Given the description of an element on the screen output the (x, y) to click on. 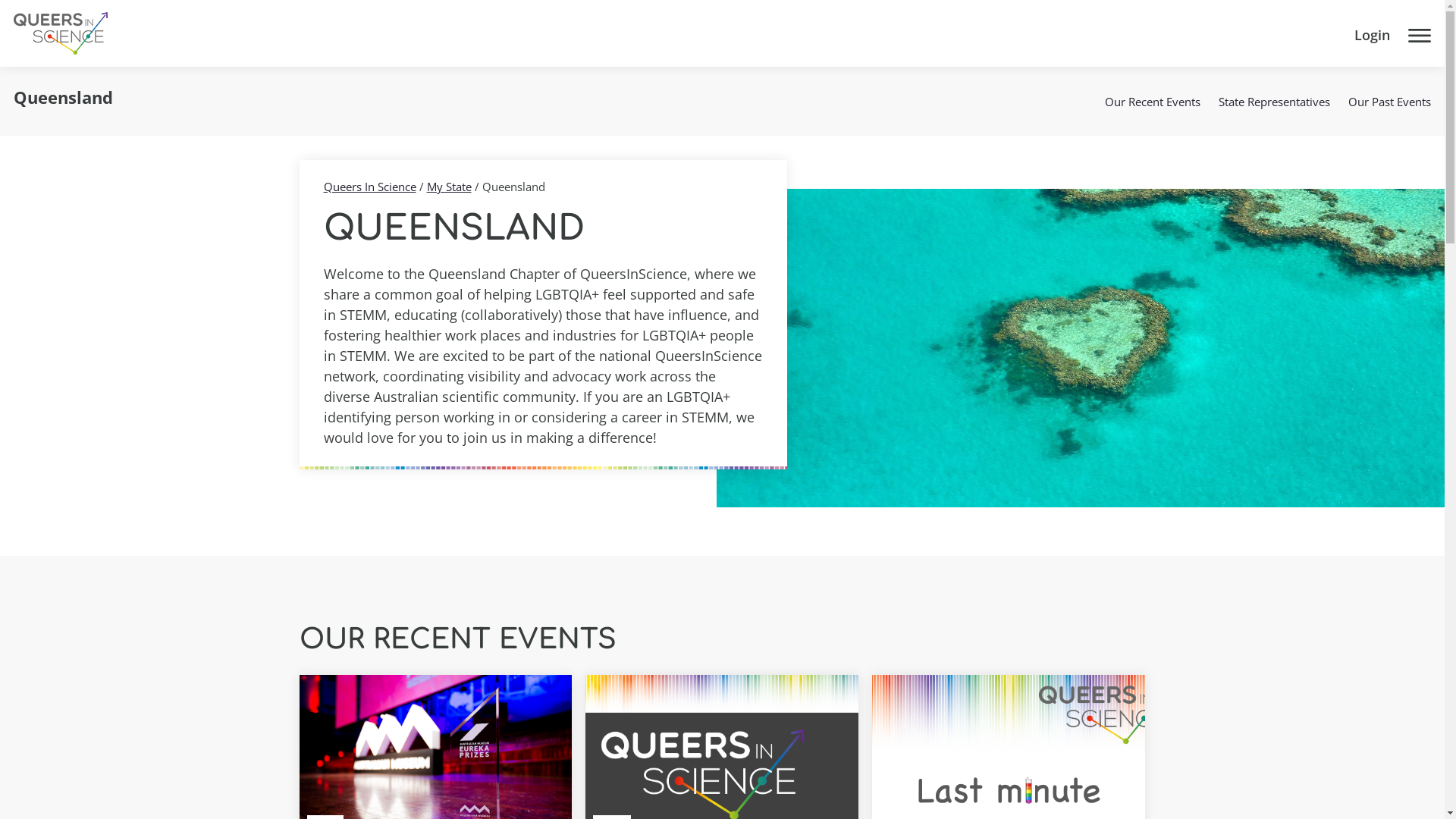
Our Past Events Element type: text (1389, 101)
Our Recent Events Element type: text (1152, 101)
State Representatives Element type: text (1274, 101)
Queers In Science Element type: text (369, 186)
Login Element type: text (1372, 41)
My State Element type: text (448, 186)
menu Element type: text (1419, 41)
